Given the description of an element on the screen output the (x, y) to click on. 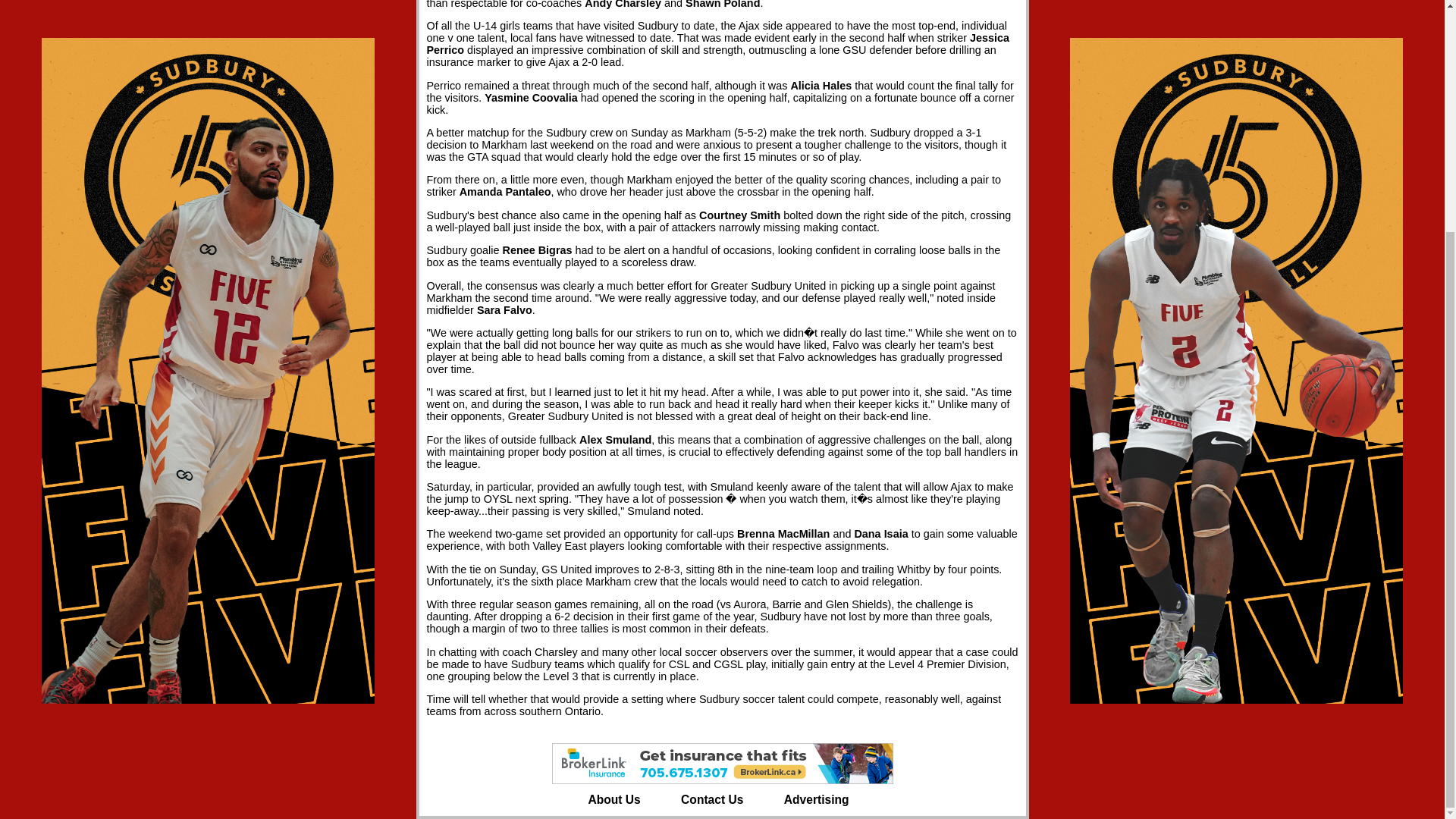
Brokerlink (722, 762)
